Given the description of an element on the screen output the (x, y) to click on. 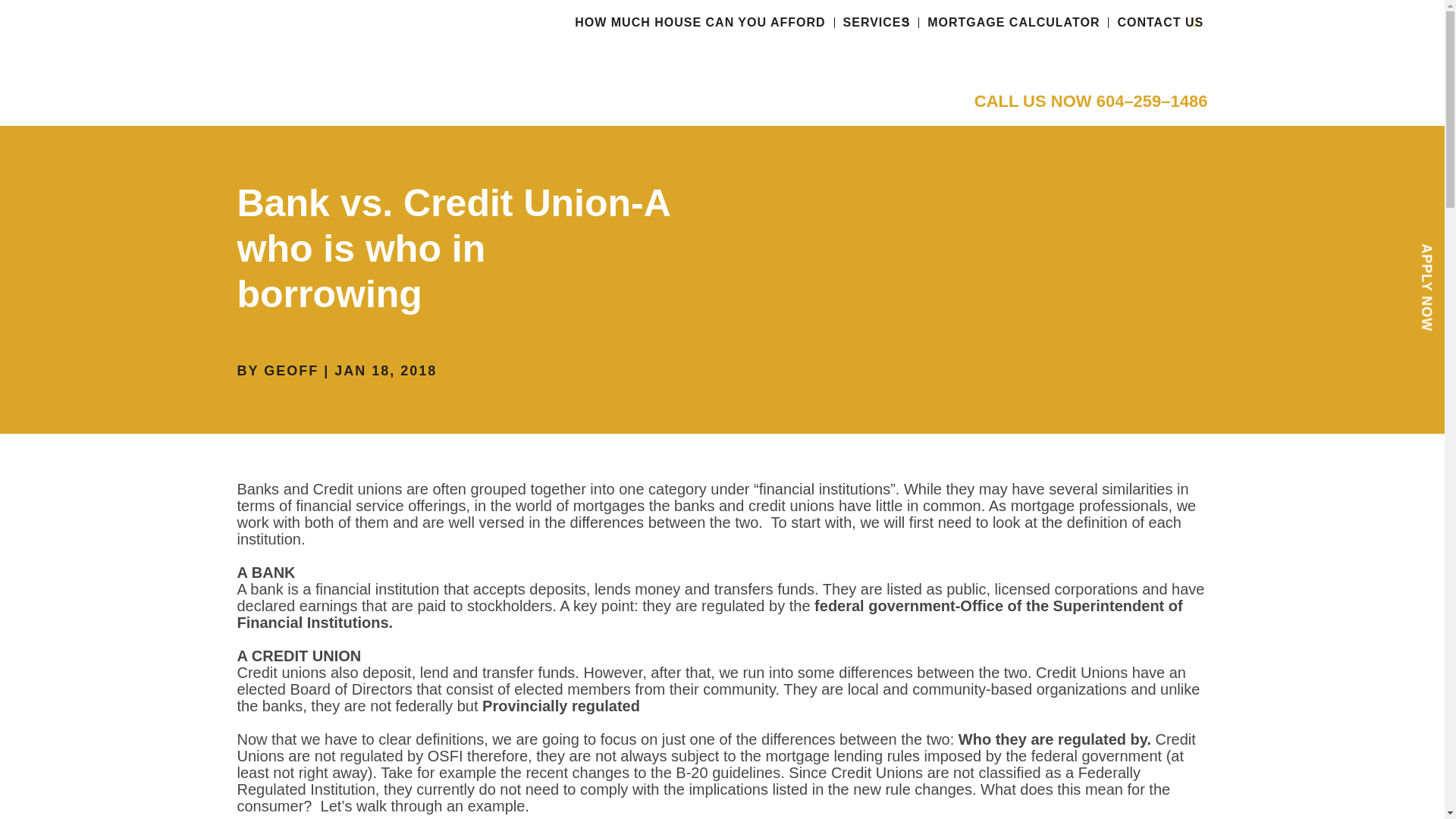
GEOFF (290, 370)
SERVICES (877, 22)
MORTGAGE CALCULATOR (1013, 22)
HOW MUCH HOUSE CAN YOU AFFORD (700, 22)
Posts by Geoff (290, 370)
CONTACT US (1160, 22)
